Given the description of an element on the screen output the (x, y) to click on. 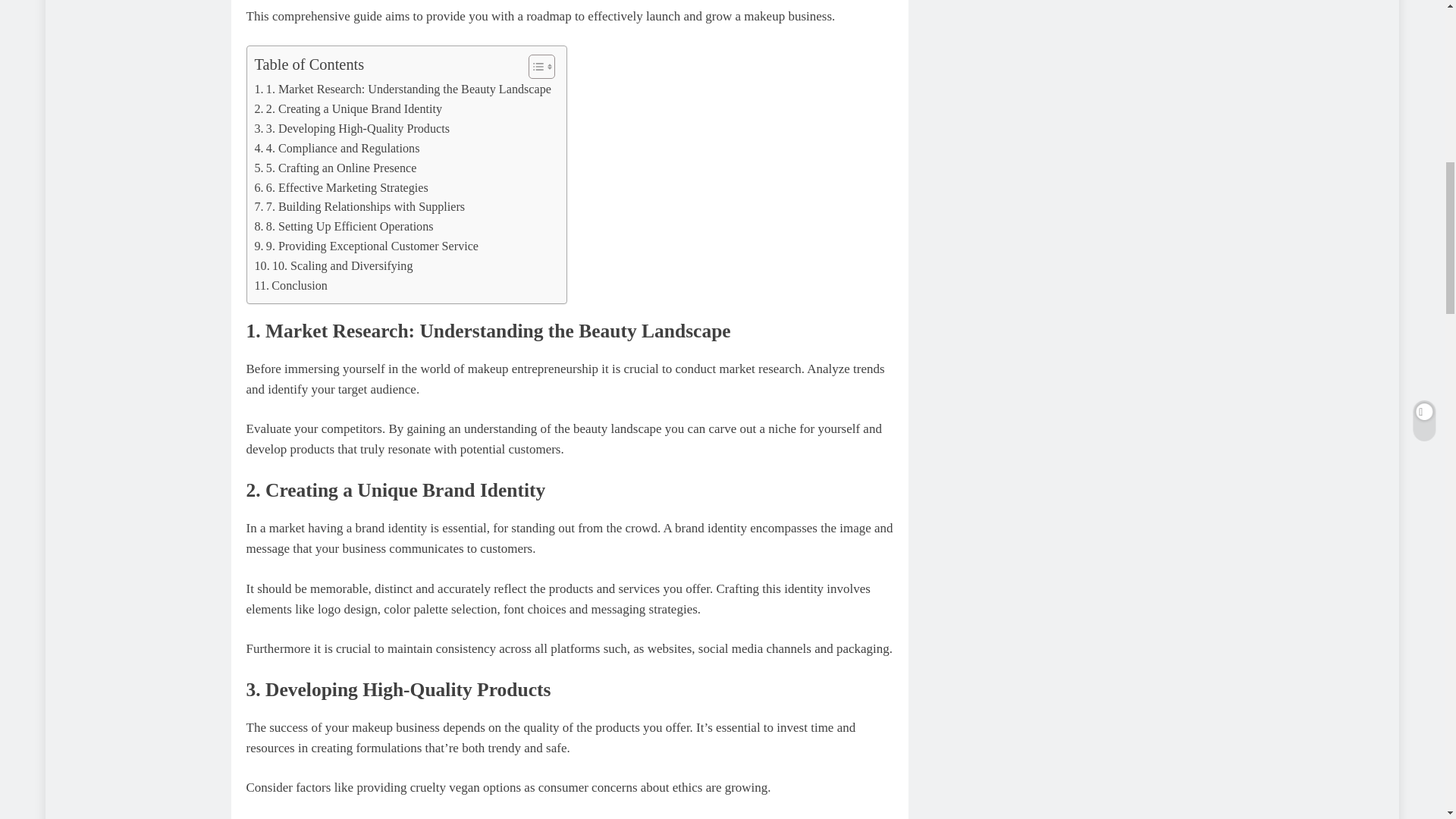
3. Developing High-Quality Products (351, 128)
1. Market Research: Understanding the Beauty Landscape (402, 89)
10. Scaling and Diversifying (333, 266)
3. Developing High-Quality Products (351, 128)
9. Providing Exceptional Customer Service (366, 246)
6. Effective Marketing Strategies (341, 188)
4. Compliance and Regulations (337, 148)
Conclusion (290, 285)
8. Setting Up Efficient Operations (343, 226)
7. Building Relationships with Suppliers (359, 207)
